Given the description of an element on the screen output the (x, y) to click on. 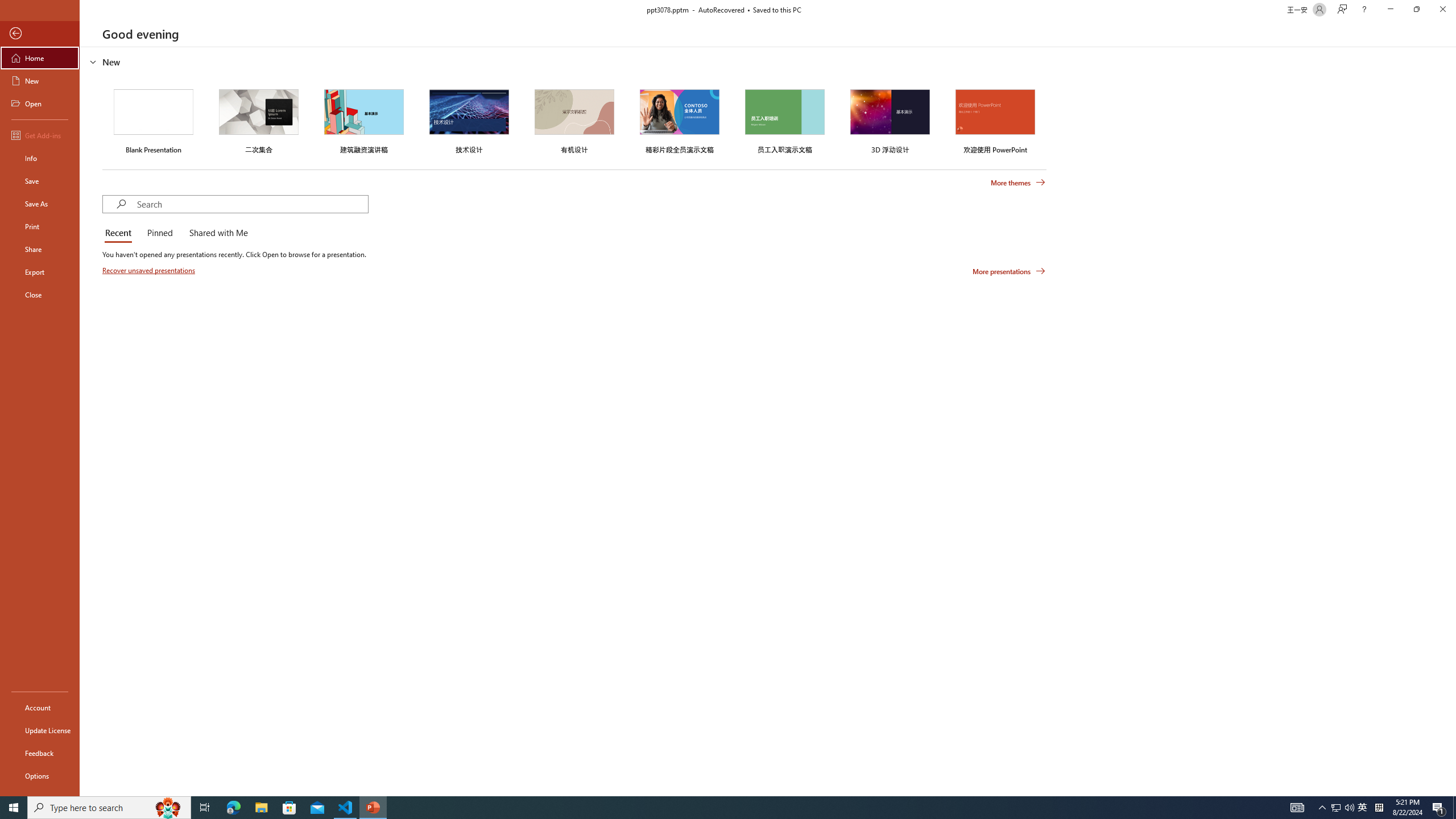
Update License (40, 730)
Feedback (40, 753)
Account (40, 707)
Hide or show region (92, 61)
Blank Presentation (153, 119)
Shared with Me (215, 233)
